Given the description of an element on the screen output the (x, y) to click on. 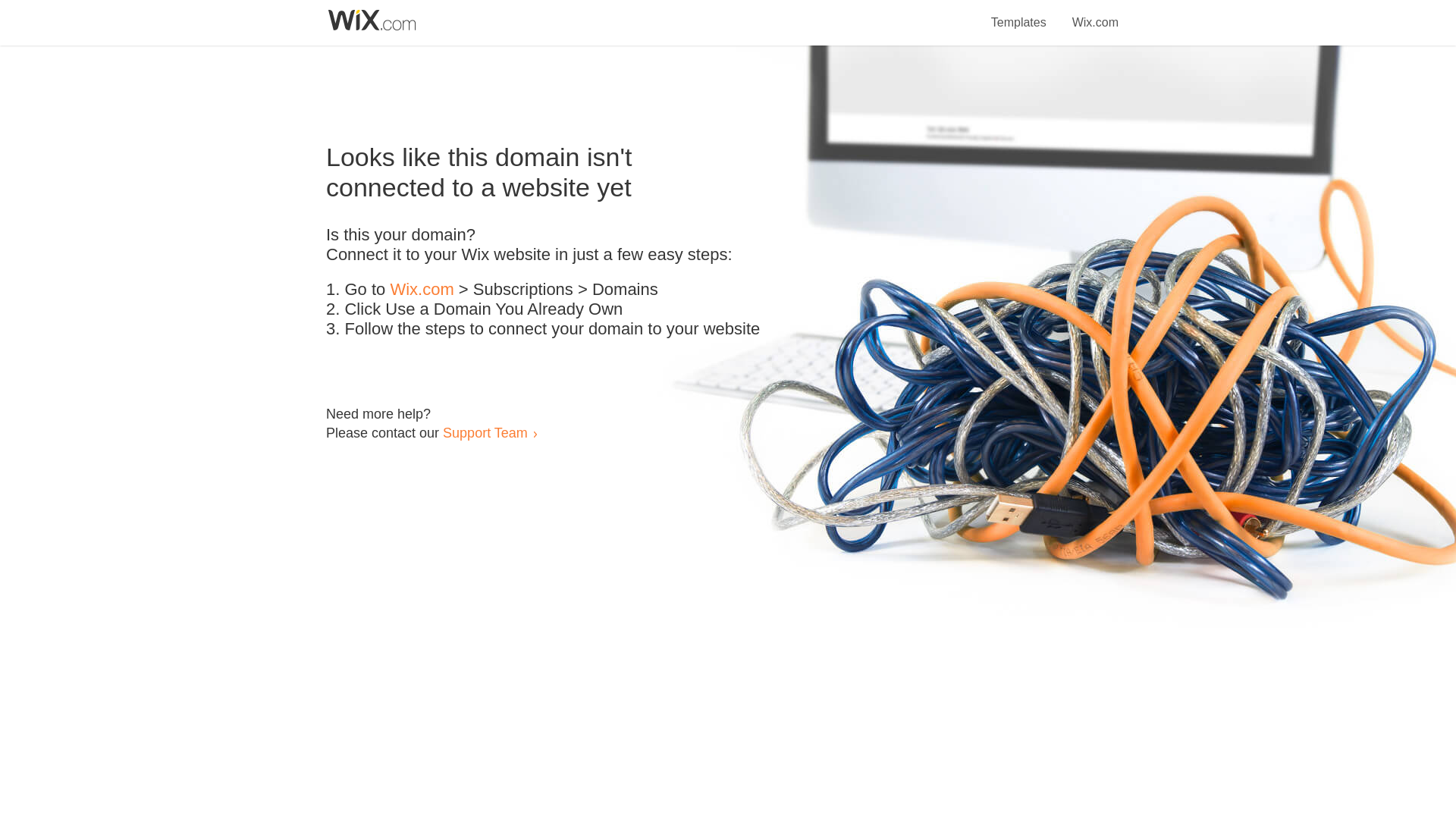
Support Team (484, 432)
Wix.com (1095, 14)
Wix.com (421, 289)
Templates (1018, 14)
